Given the description of an element on the screen output the (x, y) to click on. 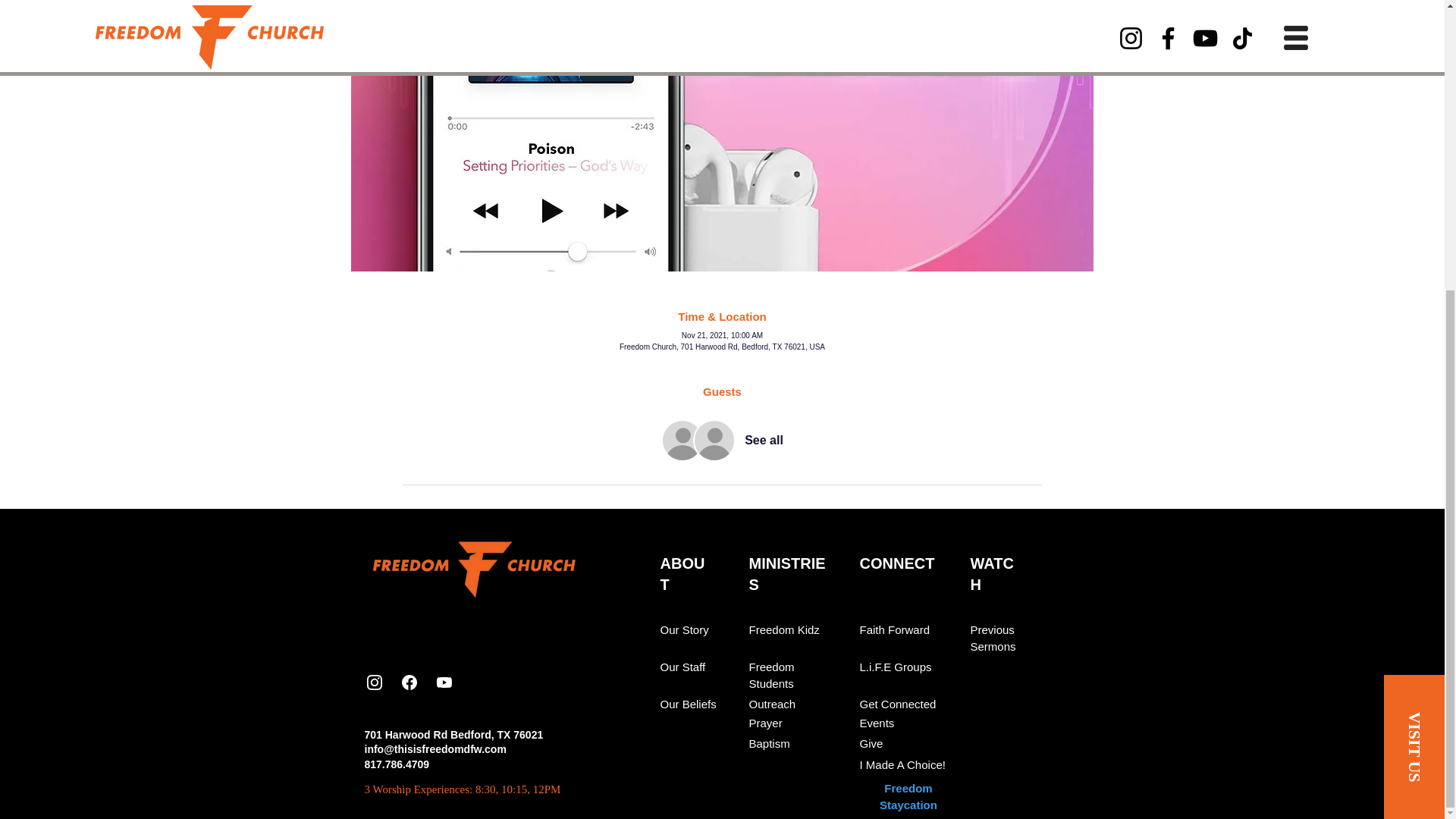
See all (763, 440)
Freedom Students (771, 675)
L.i.F.E Groups (895, 666)
Prayer (766, 723)
Freedom Staycation (908, 796)
WATCH (992, 573)
Our Story (683, 630)
Outreach (772, 704)
MINISTRIES (787, 573)
Baptism (769, 743)
Give (871, 743)
ABOUT (681, 573)
Our Beliefs (687, 704)
Events (877, 723)
Get Connected (898, 704)
